Given the description of an element on the screen output the (x, y) to click on. 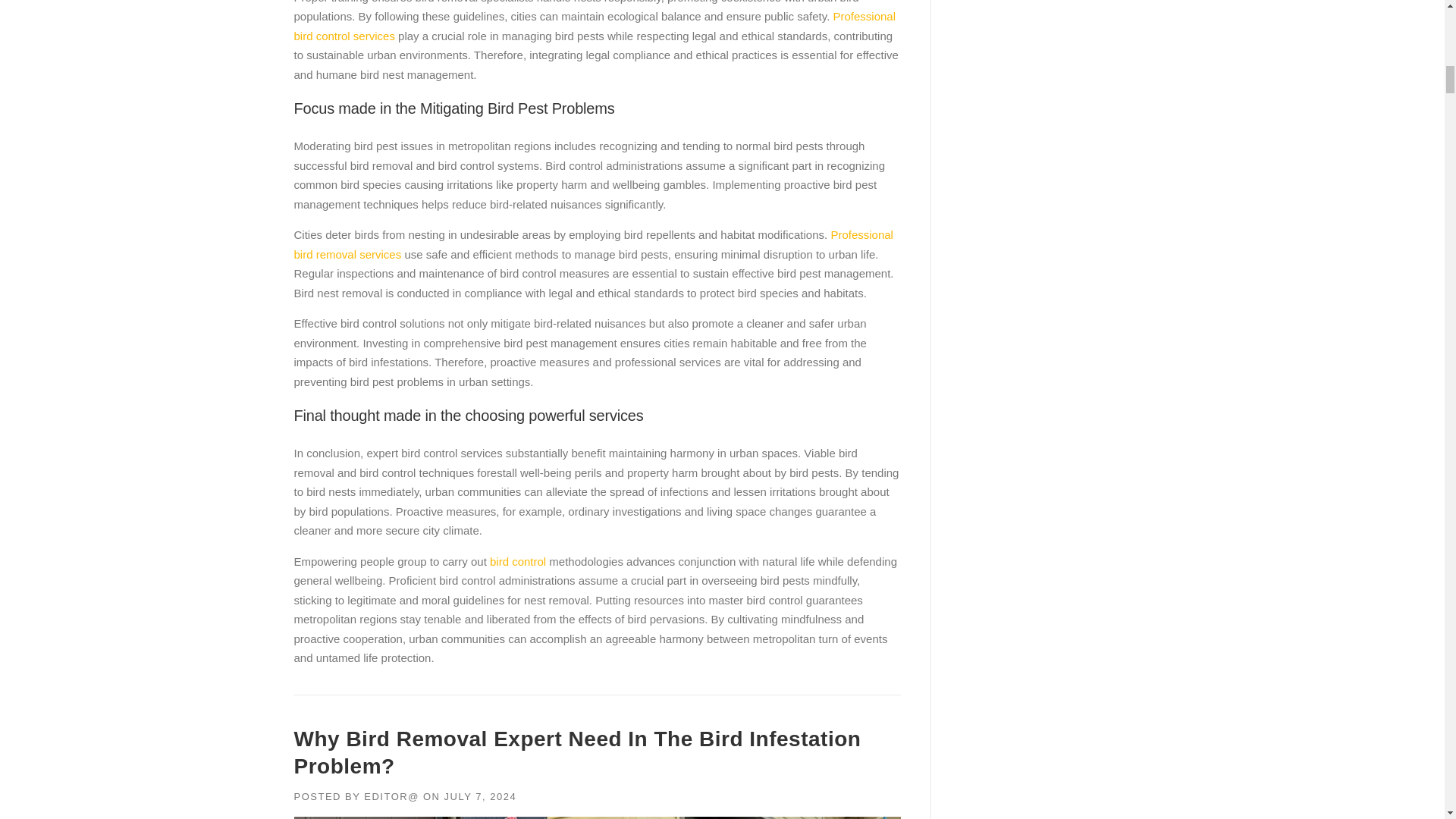
bird control (517, 561)
Professional bird removal services (593, 244)
JULY 7, 2024 (480, 796)
Professional bird control services (595, 25)
